Given the description of an element on the screen output the (x, y) to click on. 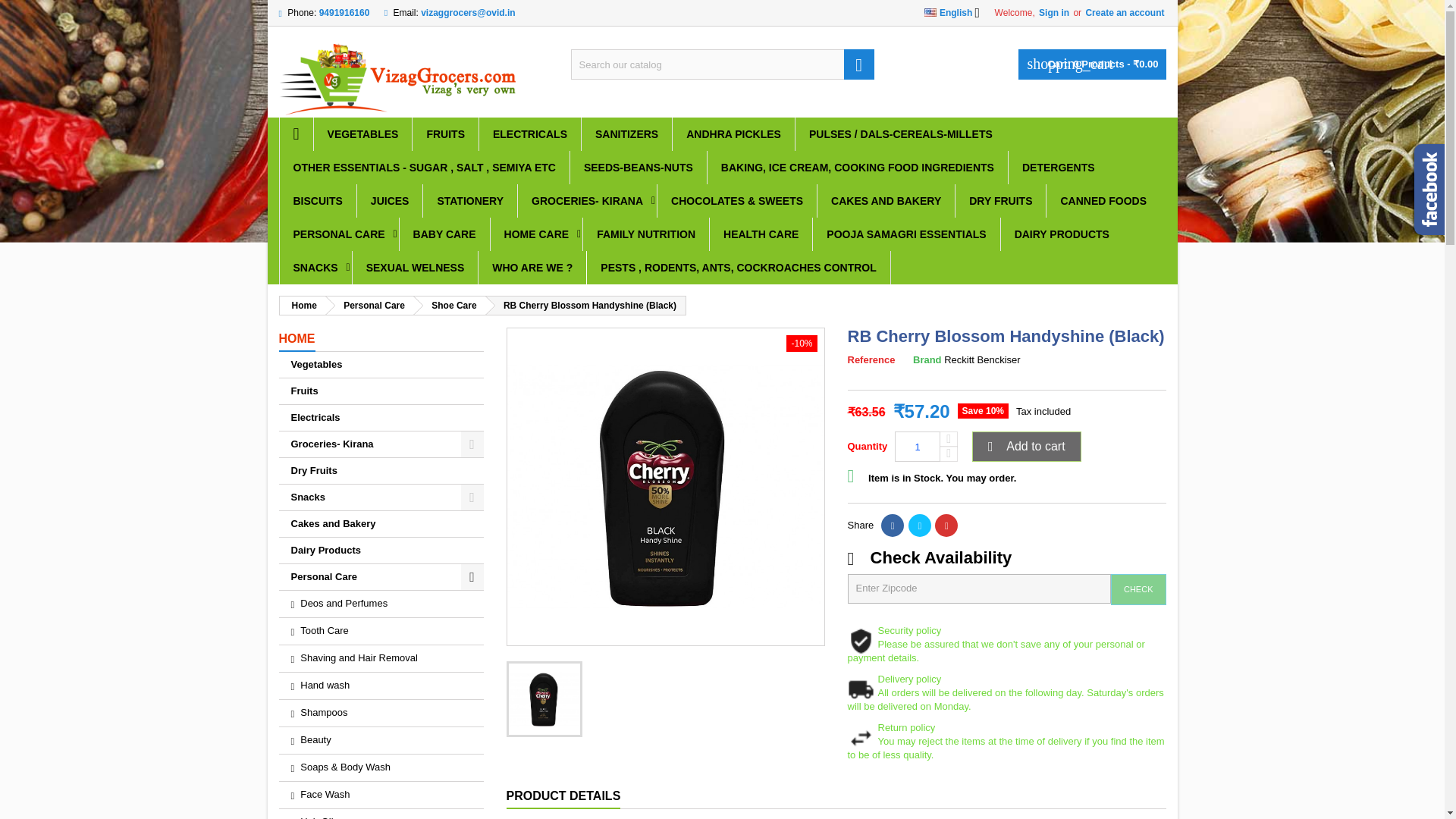
JUICES (389, 200)
STATIONERY (469, 200)
BISCUITS (317, 200)
SANITIZERS (625, 133)
ANDHRA PICKLES (733, 133)
9491916160 (343, 12)
Log in to your customer account (1124, 12)
VEGETABLES (363, 133)
DETERGENTS (1058, 167)
Pinterest (946, 525)
